Given the description of an element on the screen output the (x, y) to click on. 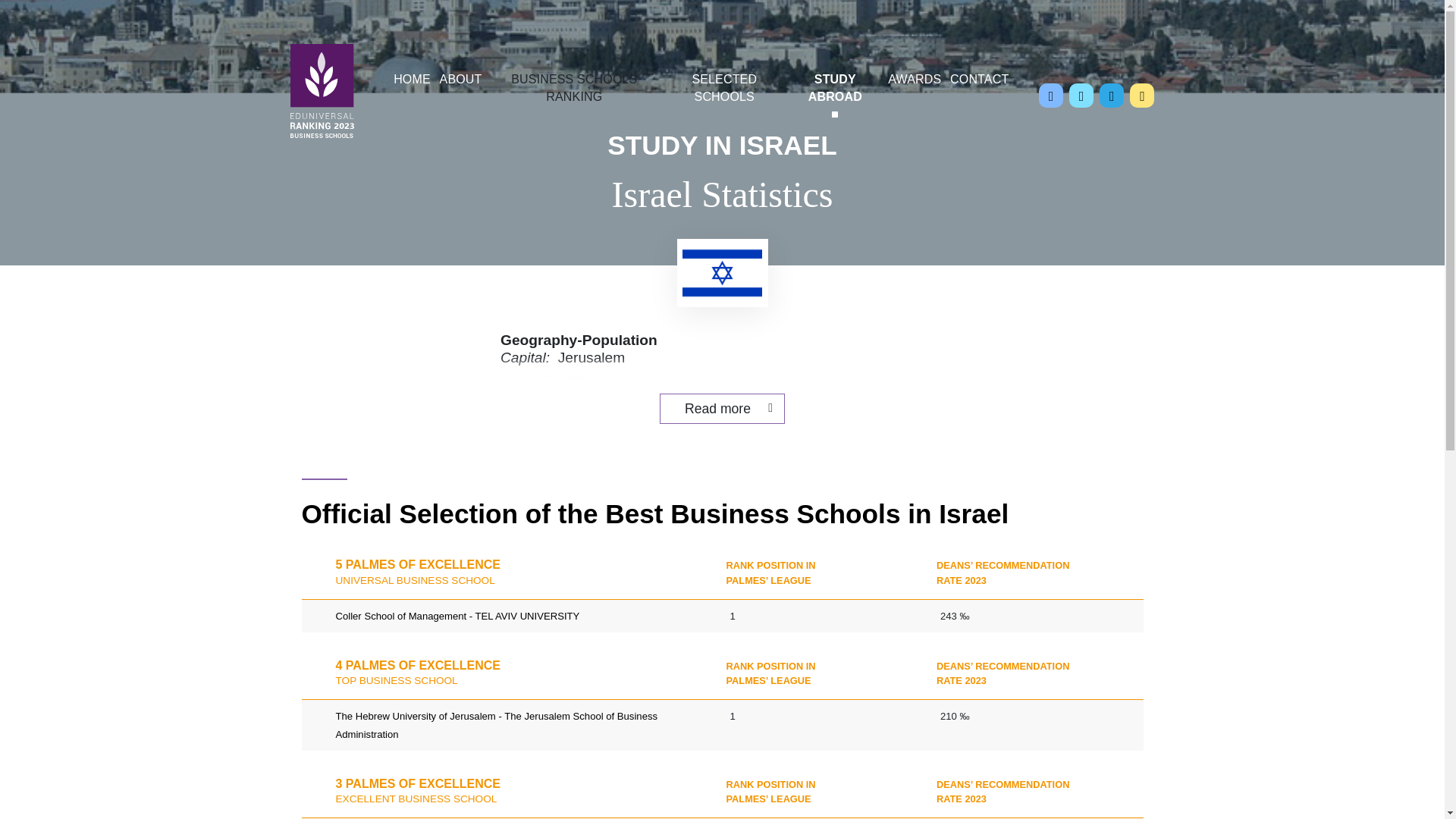
Facebook (1050, 95)
Twitter (1080, 95)
BUSINESS SCHOOLS RANKING (574, 90)
Linkedin (1111, 95)
ABOUT (460, 81)
HOME (410, 81)
 Coller School of Management - TEL AVIV UNIVERSITY  (456, 615)
Instagram (1141, 95)
